Given the description of an element on the screen output the (x, y) to click on. 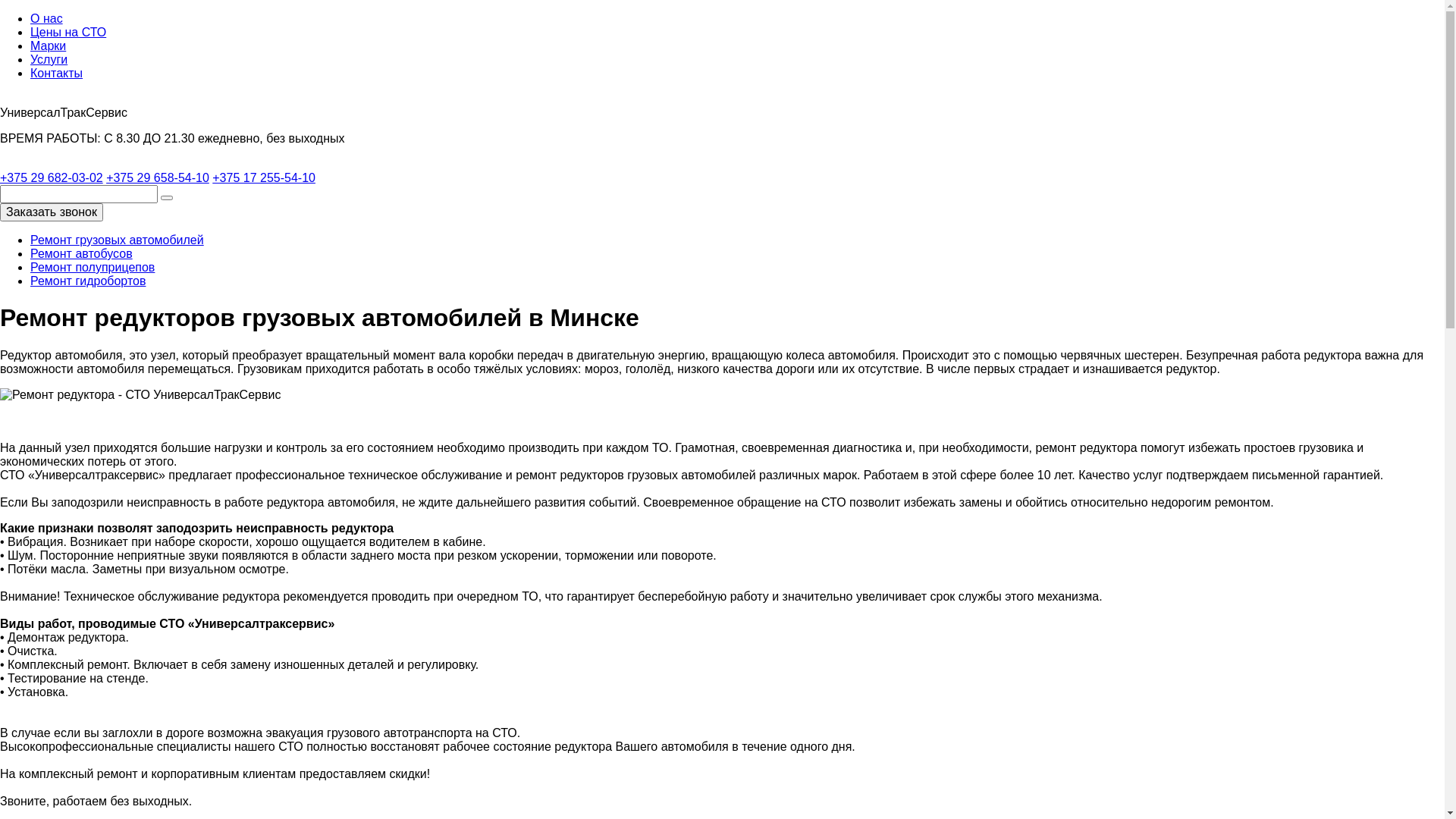
+375 17 255-54-10 Element type: text (263, 177)
+375 29 682-03-02 Element type: text (51, 177)
+375 29 658-54-10 Element type: text (157, 177)
